Given the description of an element on the screen output the (x, y) to click on. 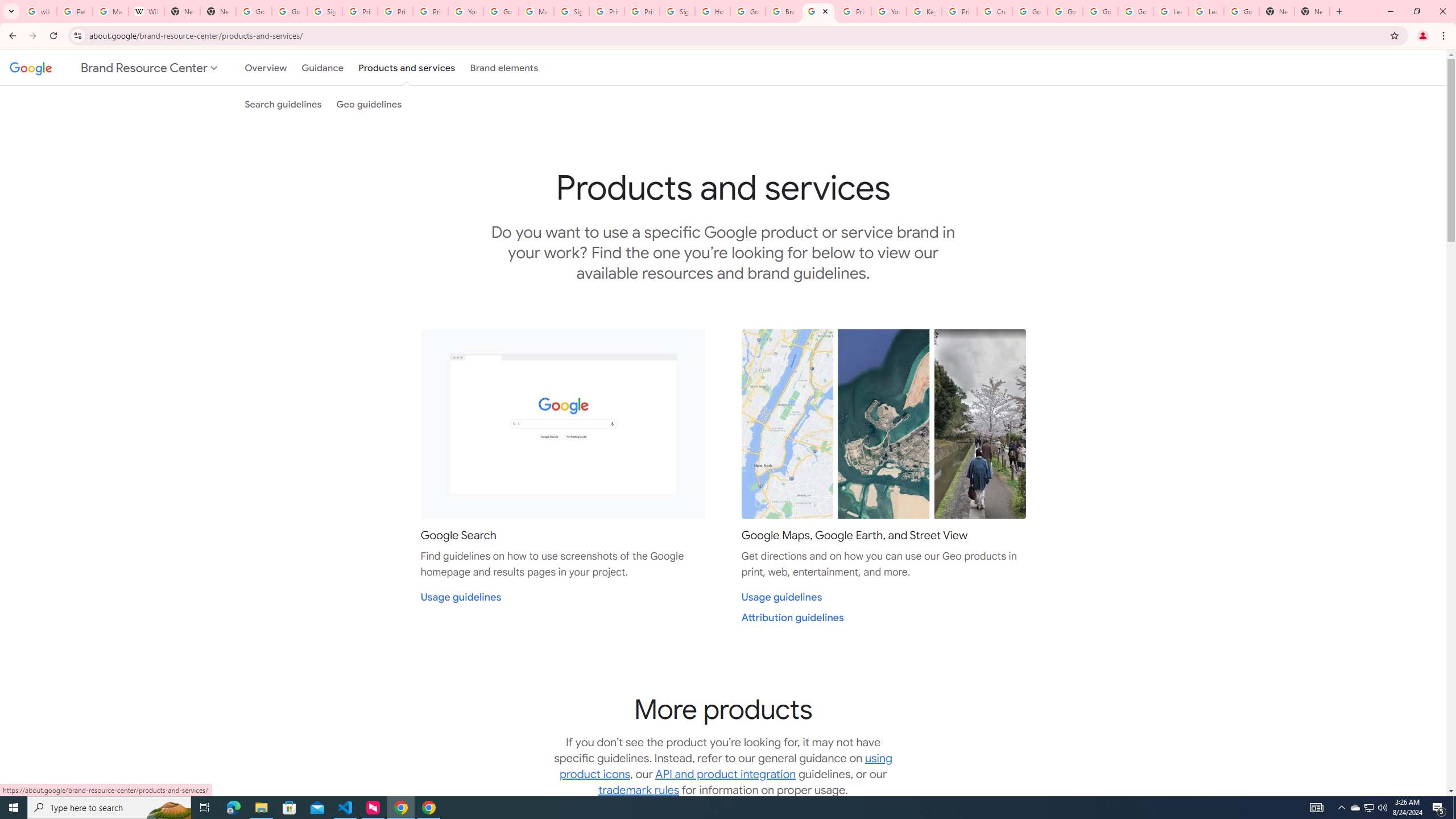
Google Account Help (1099, 11)
Google Account Help (1135, 11)
Sign in - Google Accounts (677, 11)
using product icons (725, 766)
Geo guidelines (369, 103)
Google Account Help (501, 11)
Usage guidelines (781, 597)
Search guidelines (283, 103)
Personalization & Google Search results - Google Search Help (74, 11)
